Given the description of an element on the screen output the (x, y) to click on. 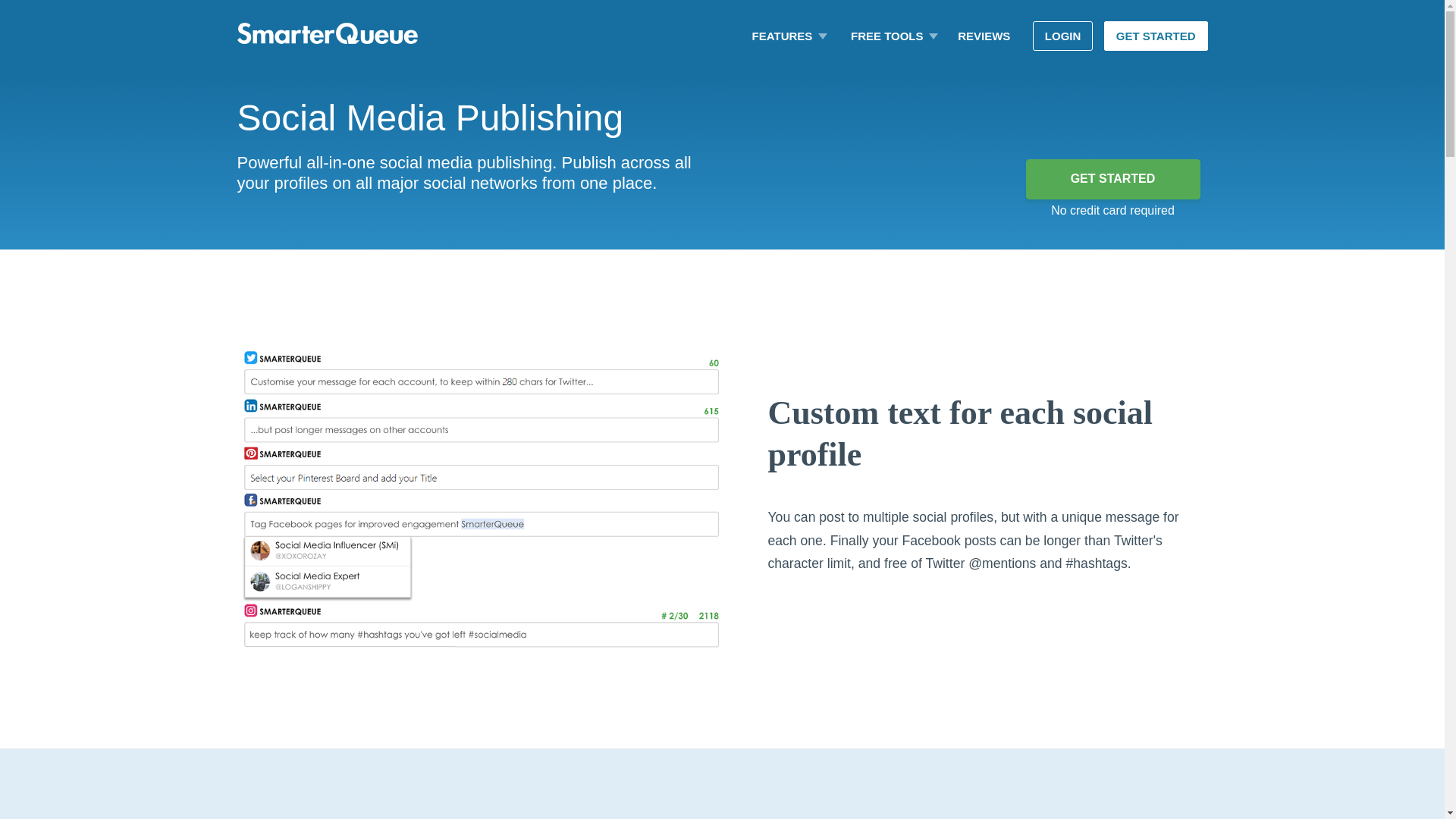
Instagram Top Nine (904, 75)
GET STARTED (1112, 178)
REVIEWS (984, 35)
Content Categories (799, 75)
GET STARTED (1155, 35)
Evergreen Recycling (799, 71)
LOGIN (1062, 35)
Analytics (799, 60)
Social Report (904, 63)
